Given the description of an element on the screen output the (x, y) to click on. 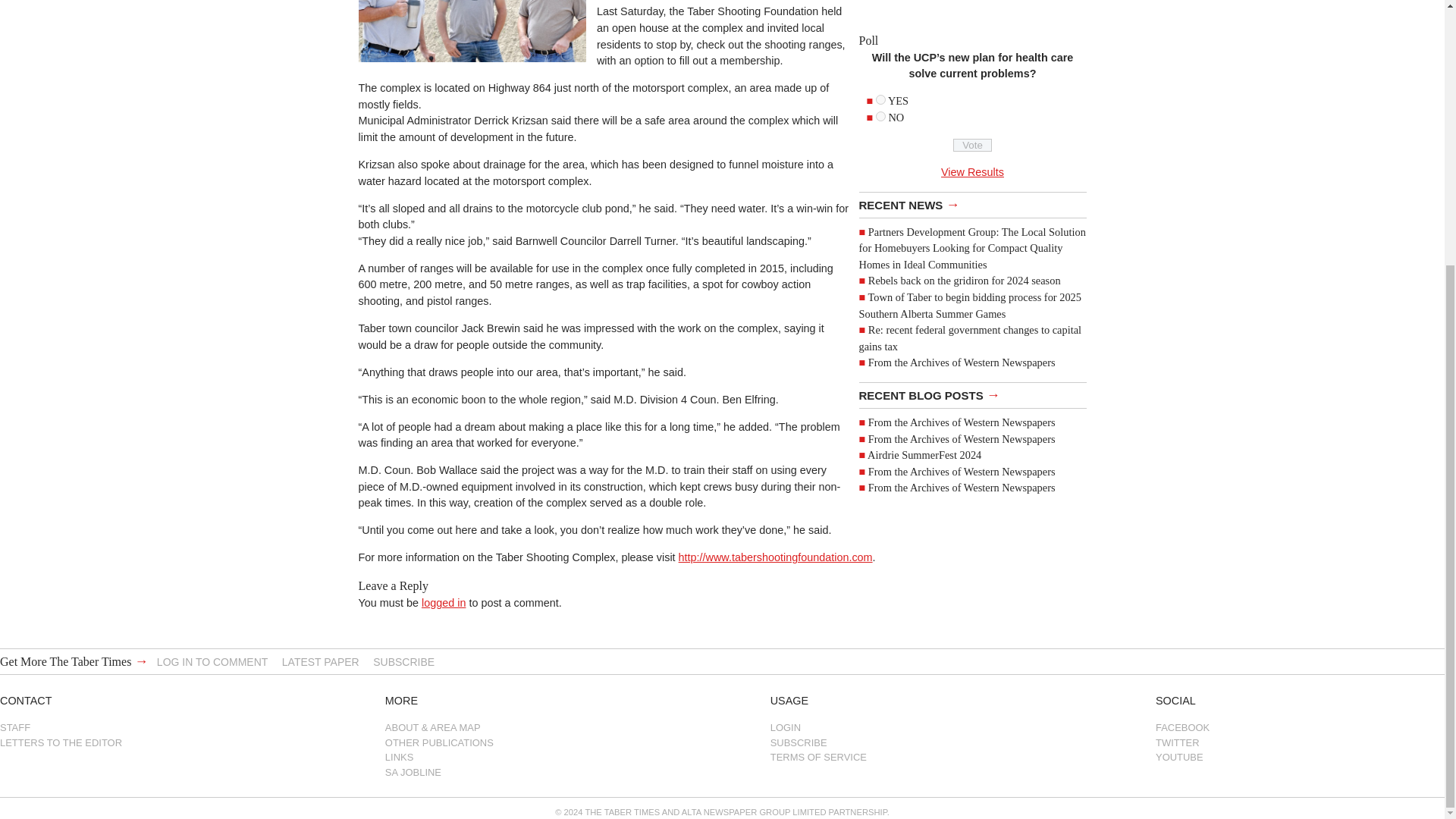
From the Archives of Western Newspapers (961, 422)
View Results (972, 172)
From the Archives of Western Newspapers (961, 438)
536 (880, 116)
From the Archives of Western Newspapers (961, 471)
   Vote    (972, 144)
View Results Of This Poll (972, 172)
Re: recent federal government changes to capital gains tax (970, 337)
Rebels back on the gridiron for 2024 season (964, 280)
